Given the description of an element on the screen output the (x, y) to click on. 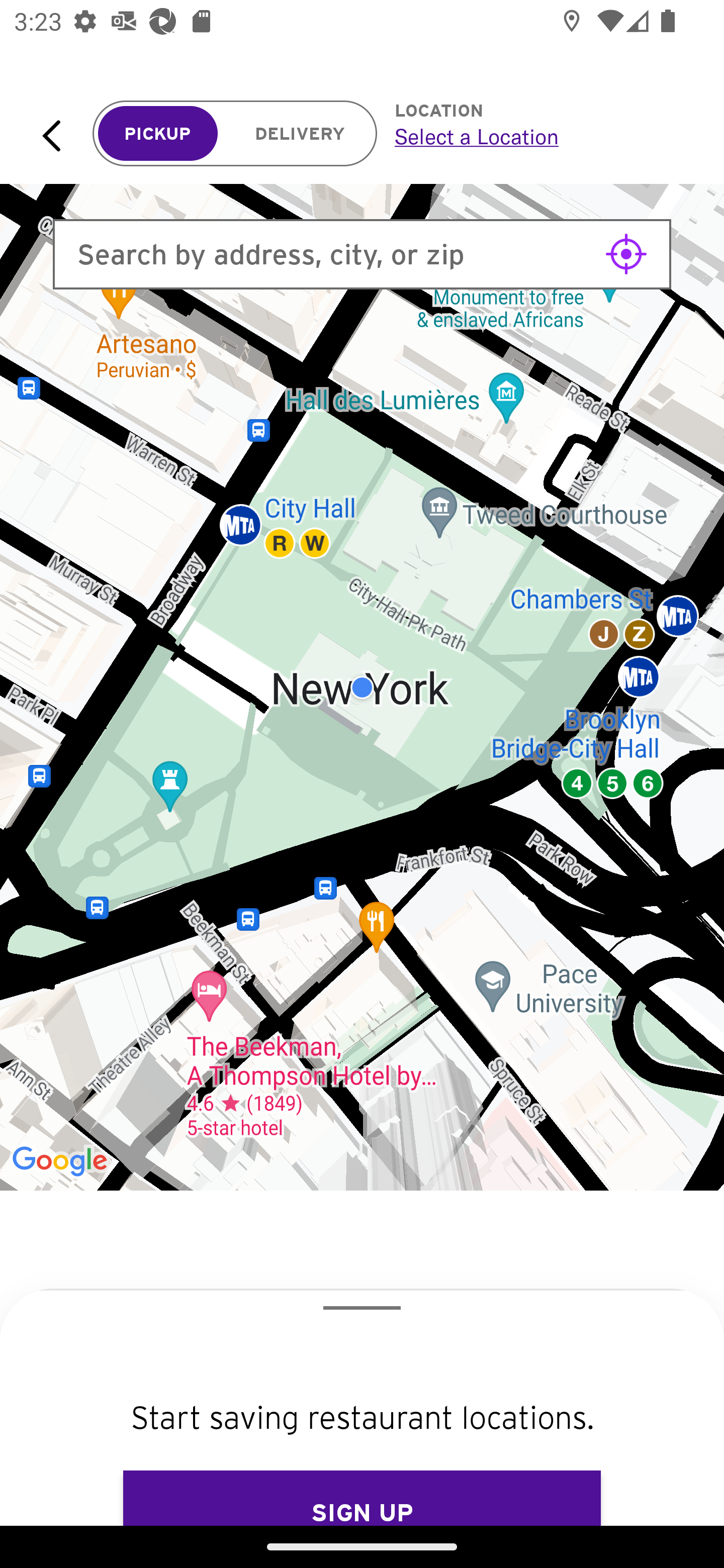
PICKUP (157, 133)
DELIVERY (299, 133)
Select a Location (536, 136)
Search by address, city, or zip (361, 254)
SIGN UP (361, 1497)
